Given the description of an element on the screen output the (x, y) to click on. 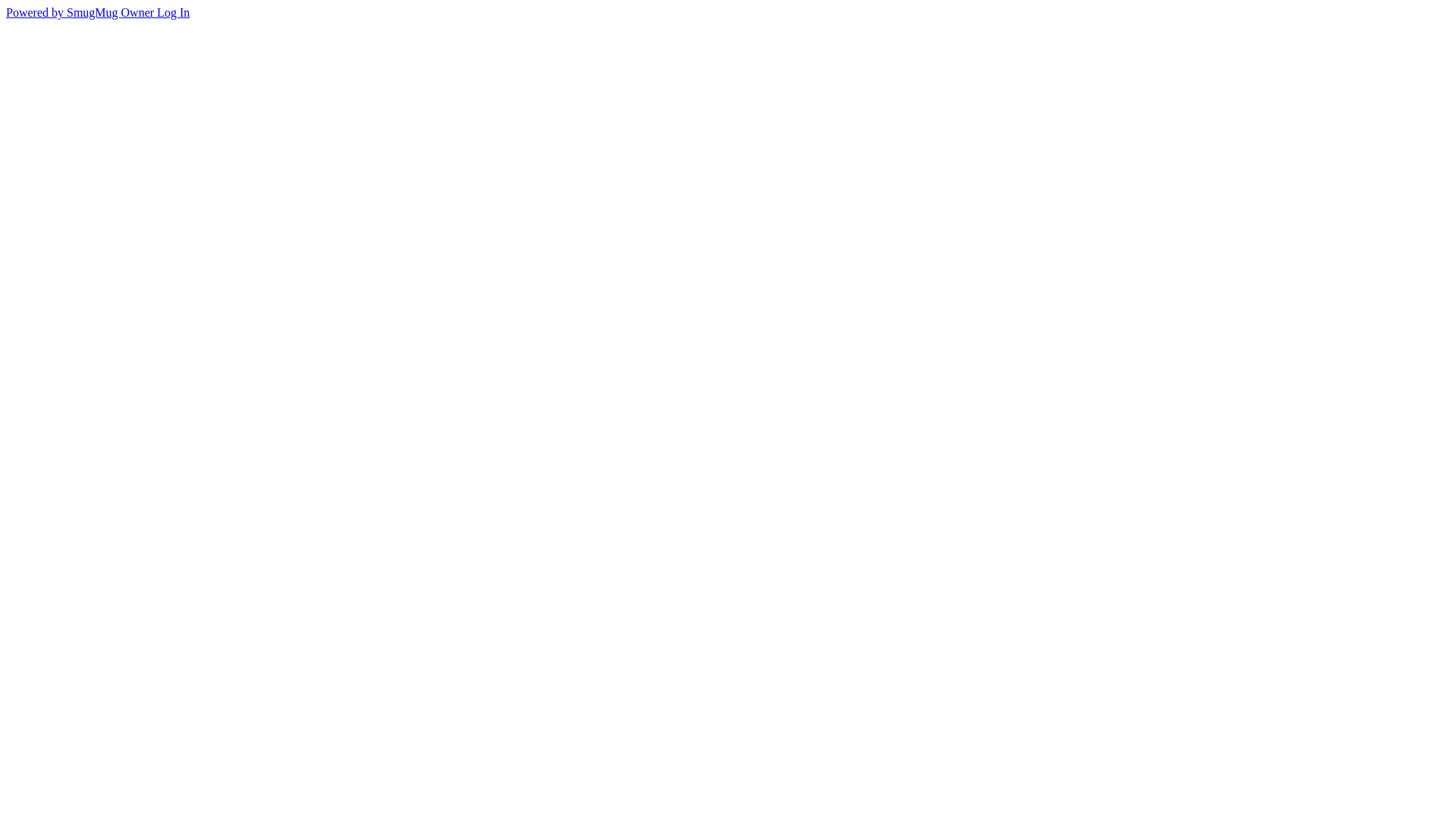
Owner Log In Element type: text (155, 12)
Powered by SmugMug Element type: text (63, 12)
